Given the description of an element on the screen output the (x, y) to click on. 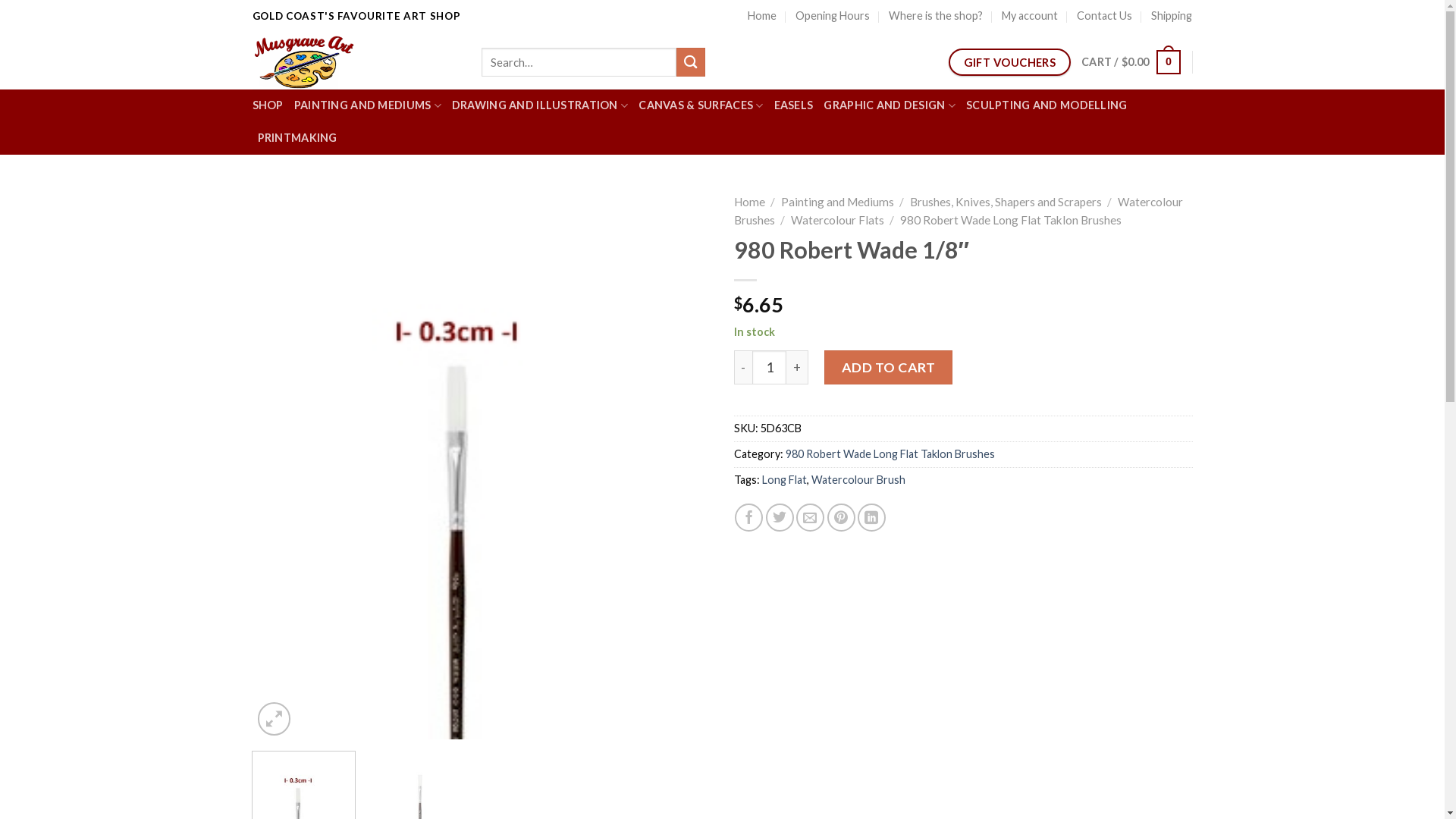
980 Robert Wade Long Flat Taklon Brushes Element type: text (1010, 219)
EASELS Element type: text (793, 105)
Share on Facebook Element type: hover (748, 517)
Watercolour Brush Element type: text (858, 479)
Contact Us Element type: text (1104, 15)
PRINTMAKING Element type: text (297, 138)
PAINTING AND MEDIUMS Element type: text (367, 105)
Watercolour Brushes Element type: text (958, 210)
ADD TO CART Element type: text (888, 367)
Shipping Element type: text (1171, 15)
Search Element type: text (690, 61)
SHOP Element type: text (266, 105)
My account Element type: text (1029, 15)
Home Element type: text (761, 15)
CANVAS & SURFACES Element type: text (700, 105)
Where is the shop? Element type: text (935, 15)
DRAWING AND ILLUSTRATION Element type: text (539, 105)
980 Robert Wade Long Flat Taklon Brushes Element type: text (889, 453)
GRAPHIC AND DESIGN Element type: text (889, 105)
CART / $0.00
0 Element type: text (1130, 61)
Painting and Mediums Element type: text (837, 201)
Zoom Element type: hover (273, 718)
Brushes, Knives, Shapers and Scrapers Element type: text (1005, 201)
SCULPTING AND MODELLING Element type: text (1046, 105)
Opening Hours Element type: text (832, 15)
Musgrave Art - The Gold Coasts Favourite Art Shop Element type: hover (354, 60)
GIFT VOUCHERS Element type: text (1009, 62)
Home Element type: text (749, 201)
Long Flat Element type: text (783, 479)
Pin on Pinterest Element type: hover (841, 517)
Watercolour Flats Element type: text (837, 219)
Share on LinkedIn Element type: hover (871, 517)
Share on Twitter Element type: hover (779, 517)
Email to a Friend Element type: hover (810, 517)
